Given the description of an element on the screen output the (x, y) to click on. 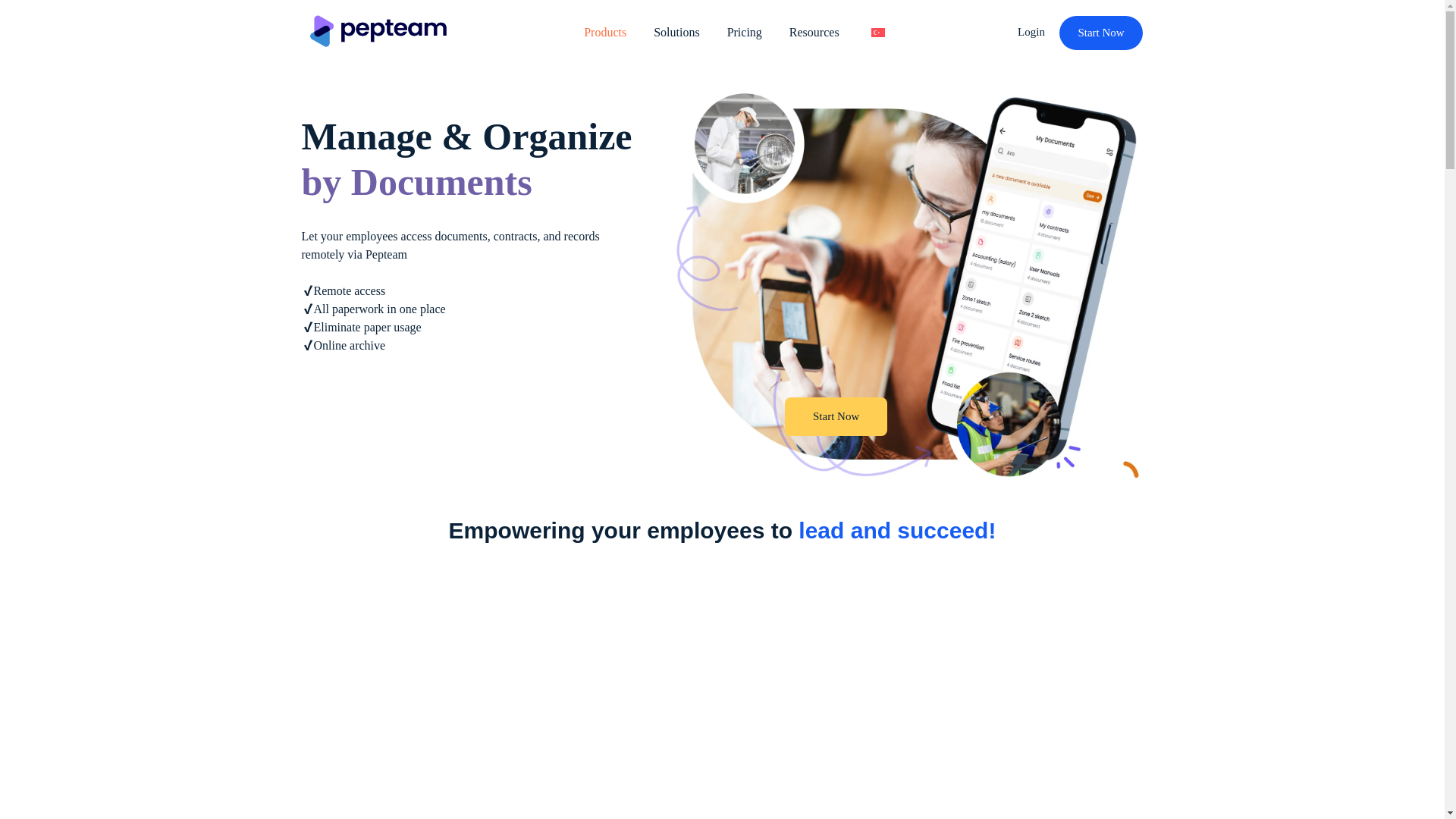
Products (604, 32)
Solutions (675, 32)
Solutions (675, 32)
Login (1032, 31)
Start Now (835, 416)
Pricing (744, 32)
Resources (814, 32)
Products (604, 32)
Start Now (1100, 32)
